Given the description of an element on the screen output the (x, y) to click on. 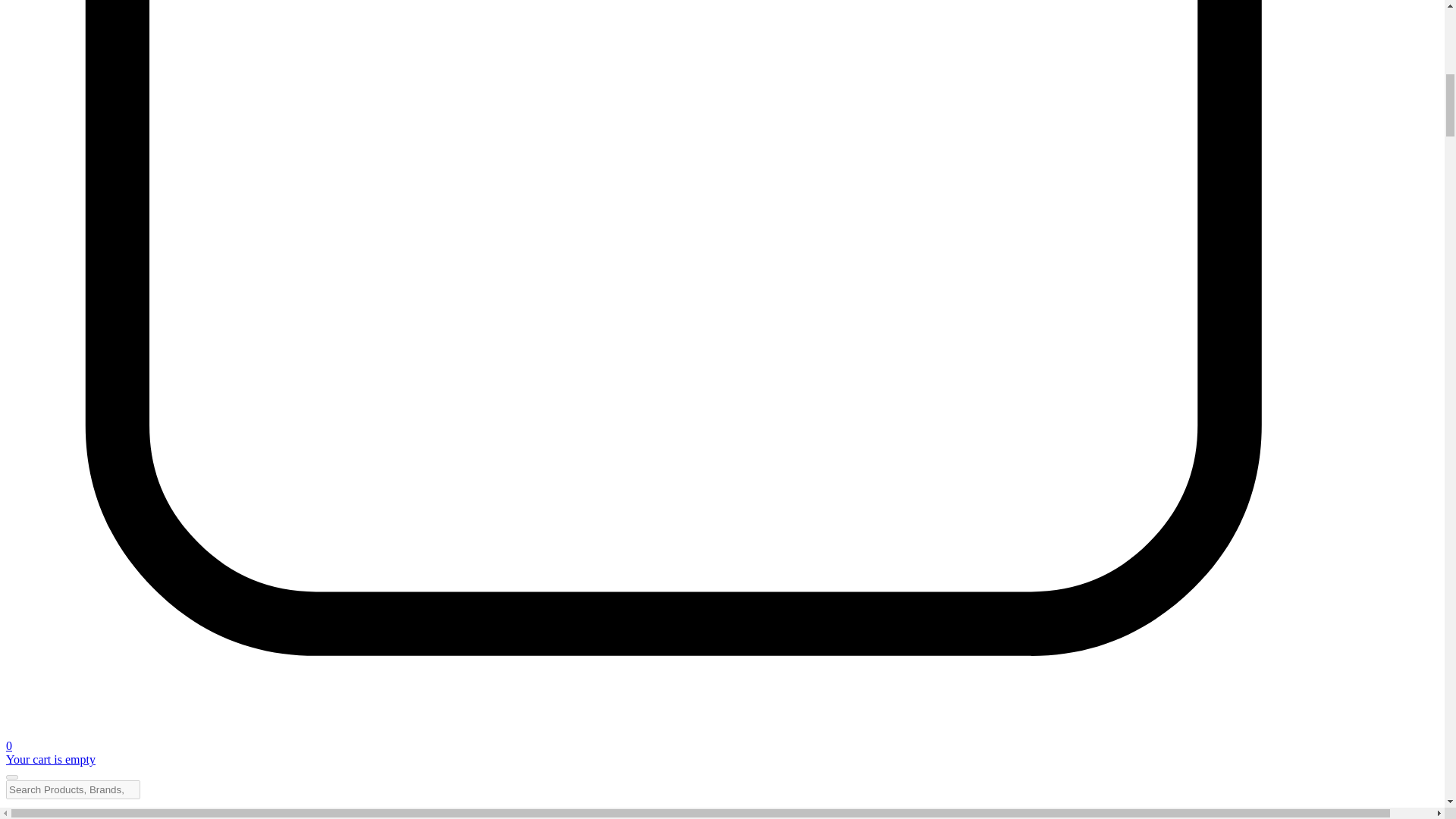
0 (721, 738)
Cart (721, 738)
Your cart is empty (50, 758)
